Given the description of an element on the screen output the (x, y) to click on. 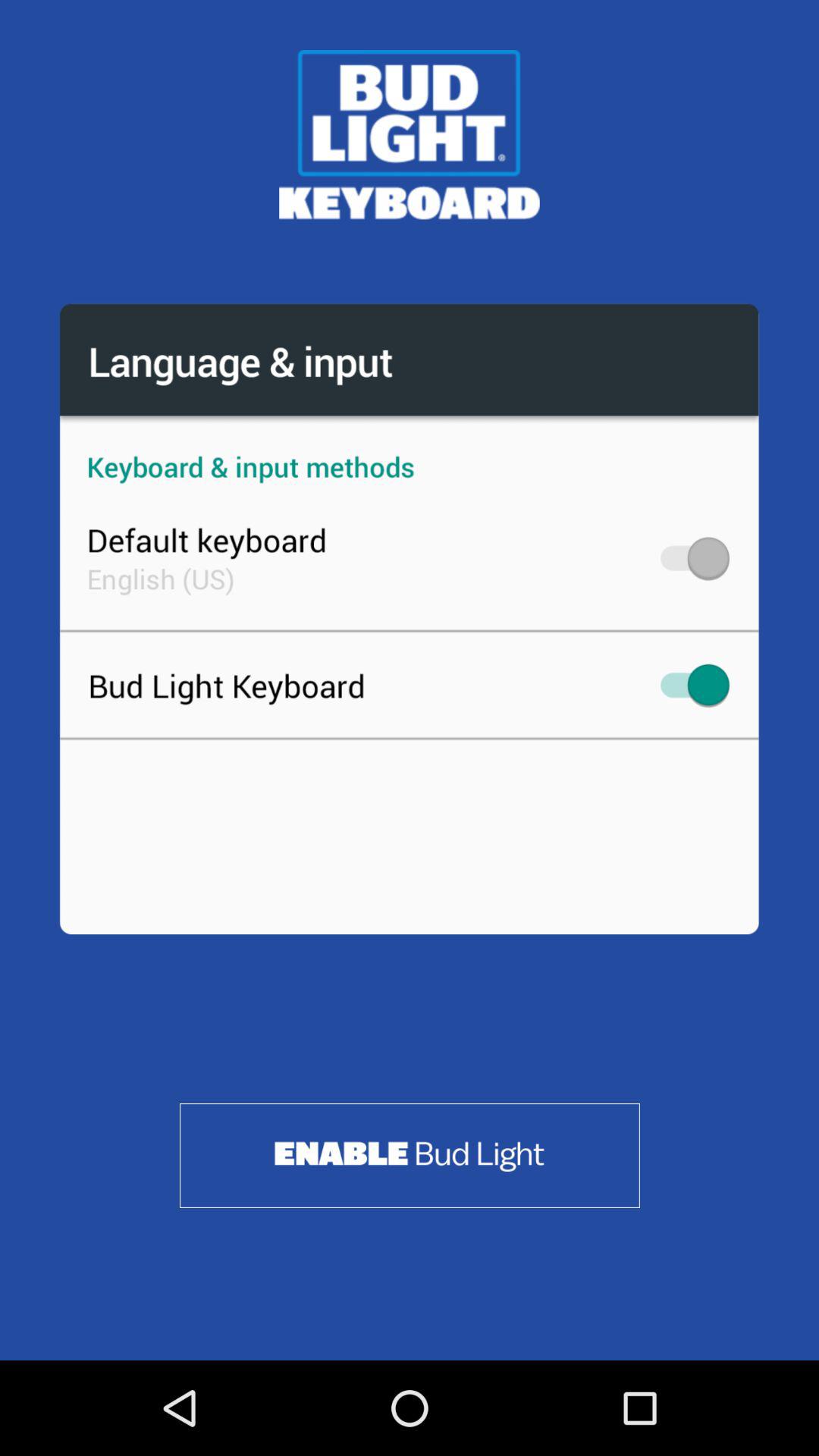
enable bud light (409, 1155)
